Given the description of an element on the screen output the (x, y) to click on. 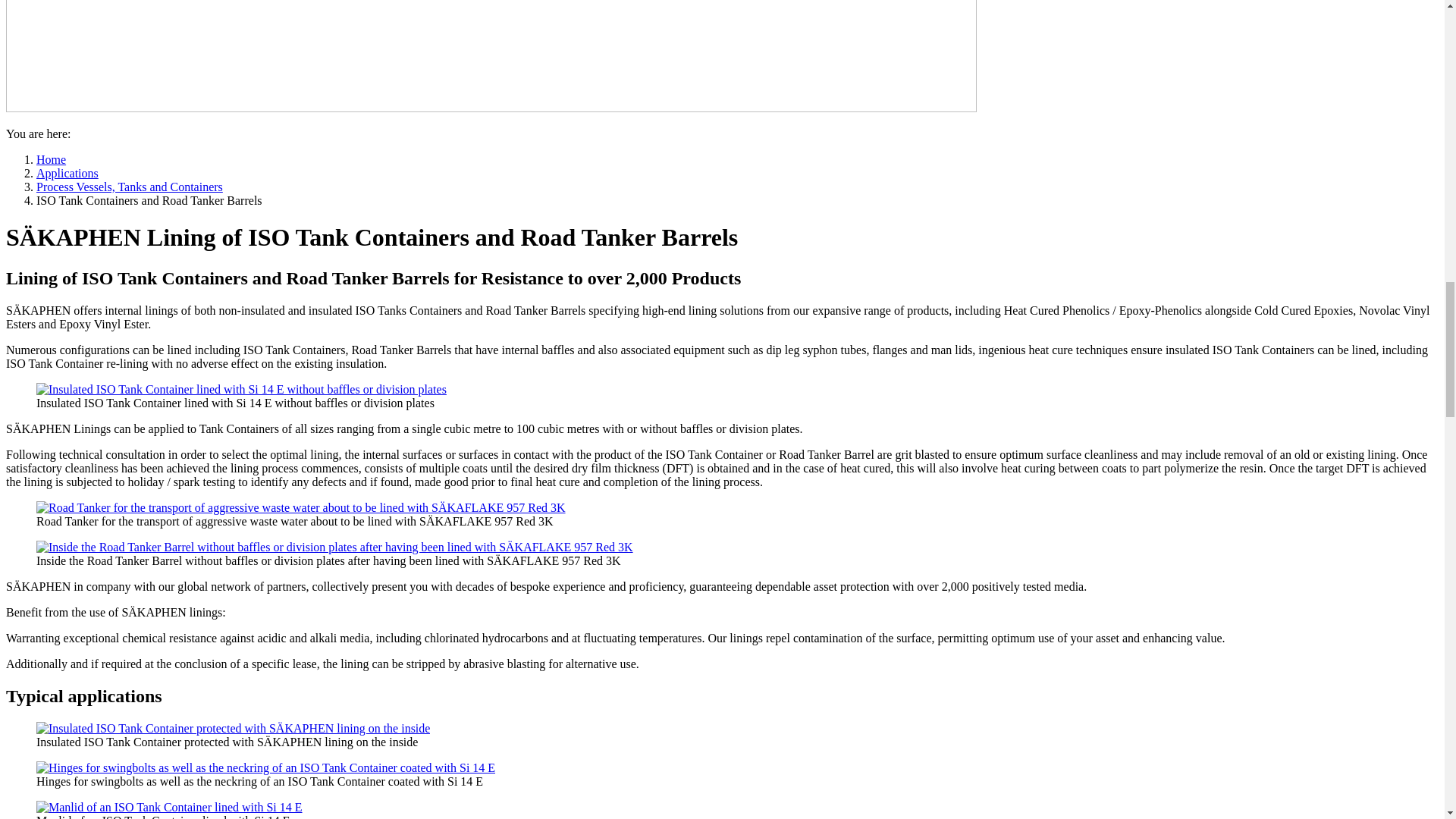
Home (50, 159)
Manlid of an ISO Tank Container lined with Si 14 E (169, 807)
Manlid of an ISO Tank Container lined with Si 14 E (169, 807)
Applications (67, 173)
Process Vessels, Tanks and Containers (129, 186)
